Given the description of an element on the screen output the (x, y) to click on. 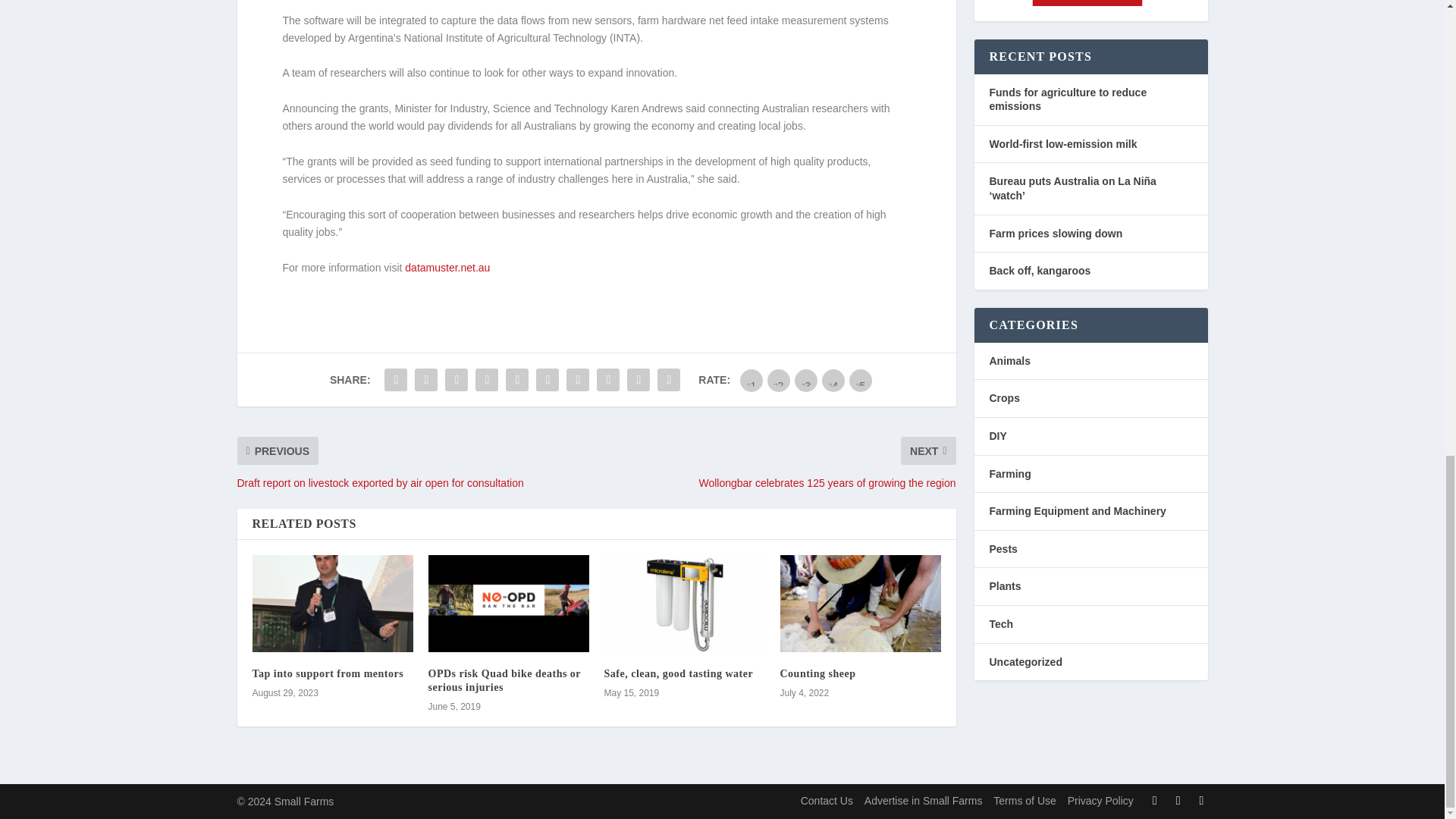
datamuster.net.au (446, 267)
